Given the description of an element on the screen output the (x, y) to click on. 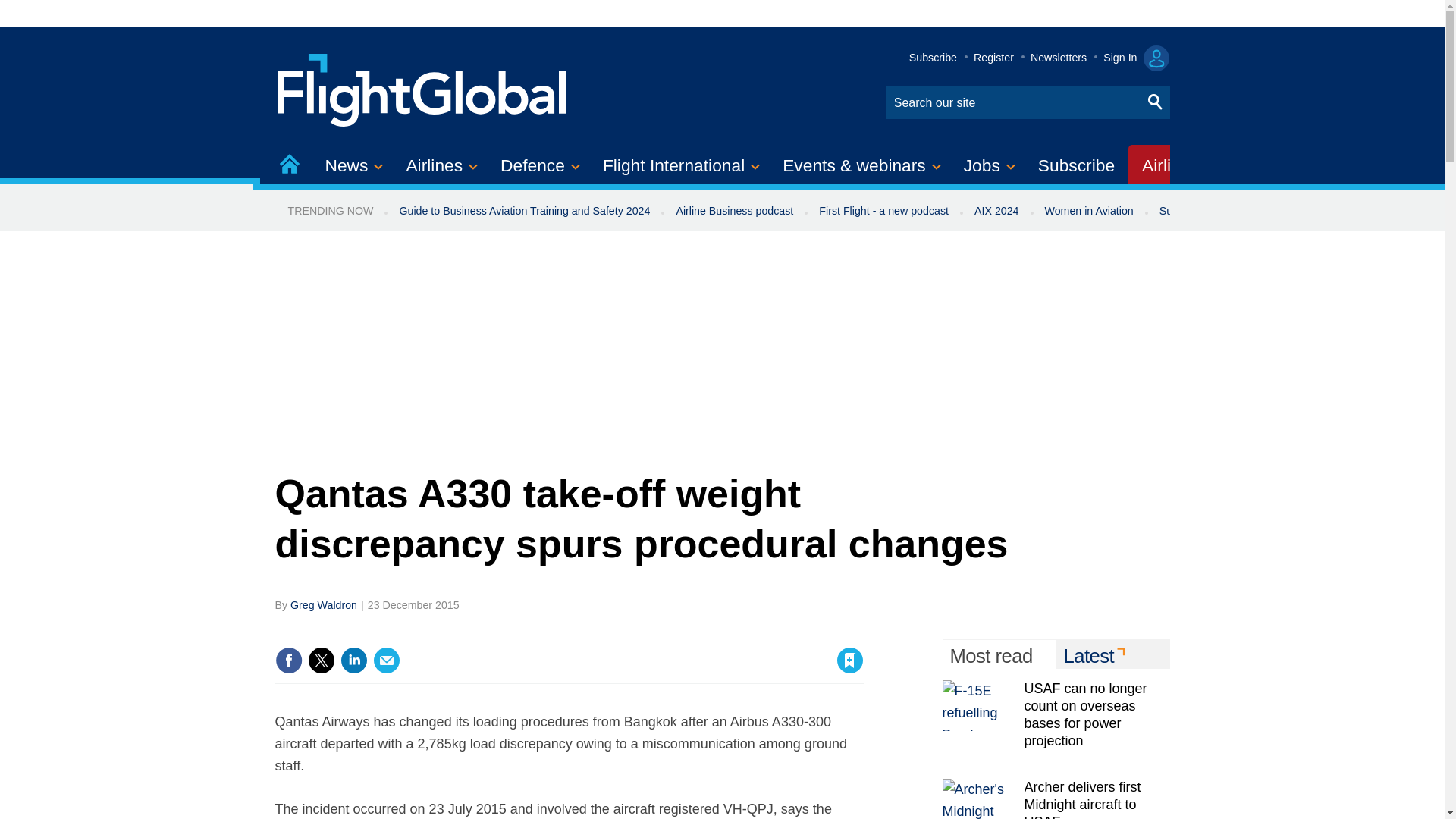
First Flight - a new podcast (883, 210)
Women in Aviation (1089, 210)
Email this article (386, 660)
Share this on Linked in (352, 660)
Share this on Twitter (320, 660)
Sustainable Aviation newsletter (1234, 210)
AIX 2024 (996, 210)
